Given the description of an element on the screen output the (x, y) to click on. 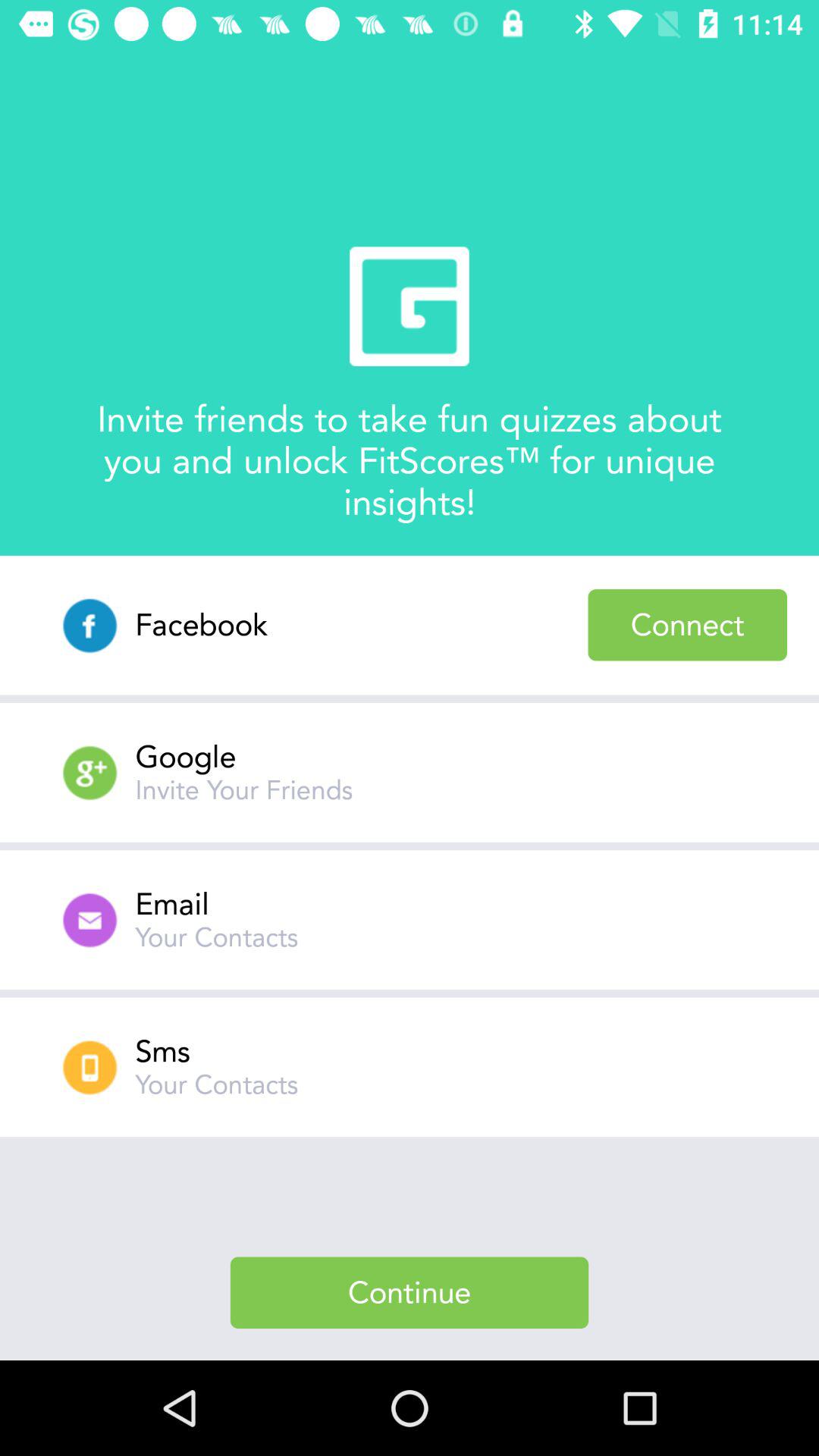
scroll until connect (687, 624)
